Given the description of an element on the screen output the (x, y) to click on. 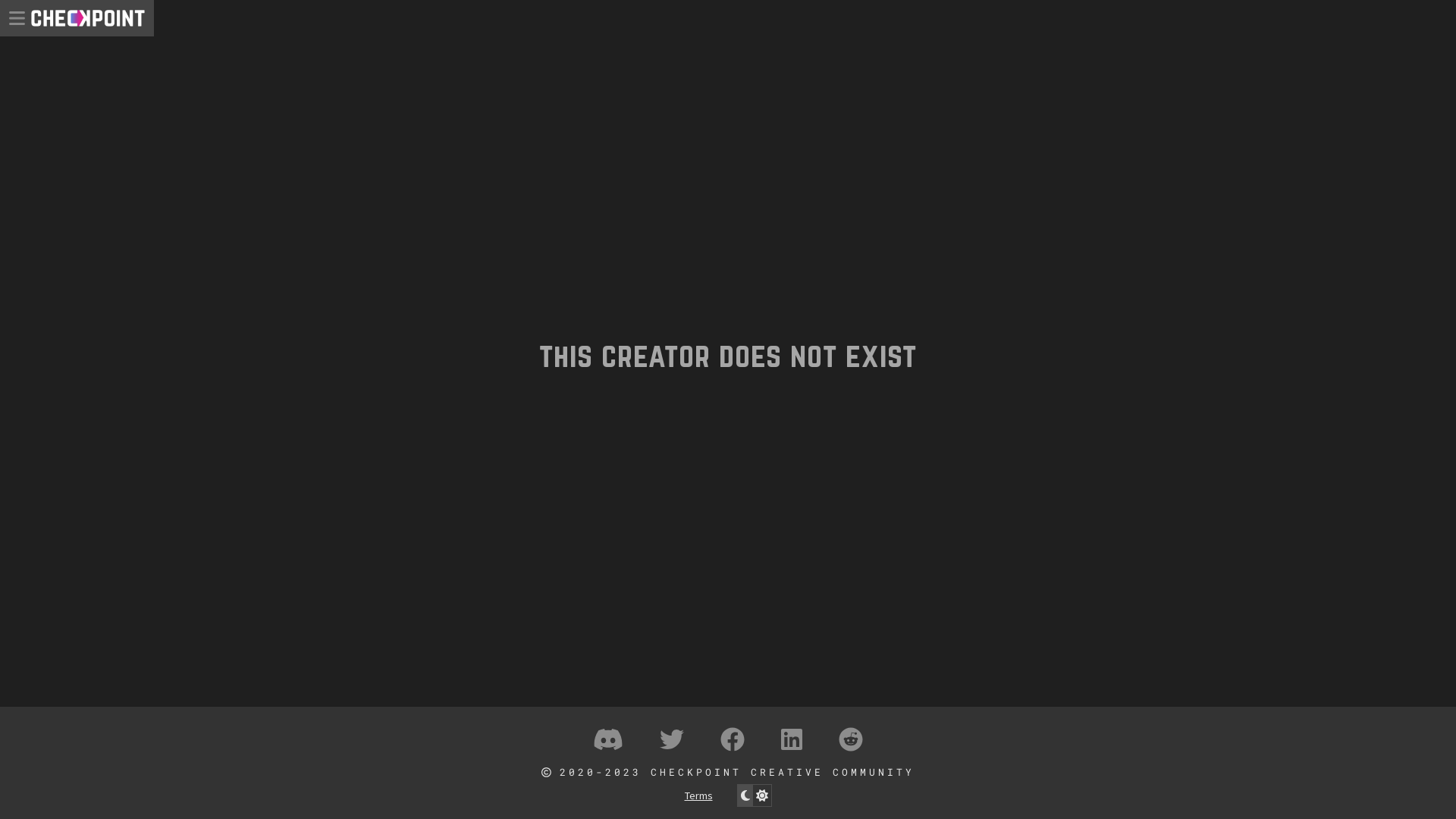
Terms Element type: text (698, 795)
